Given the description of an element on the screen output the (x, y) to click on. 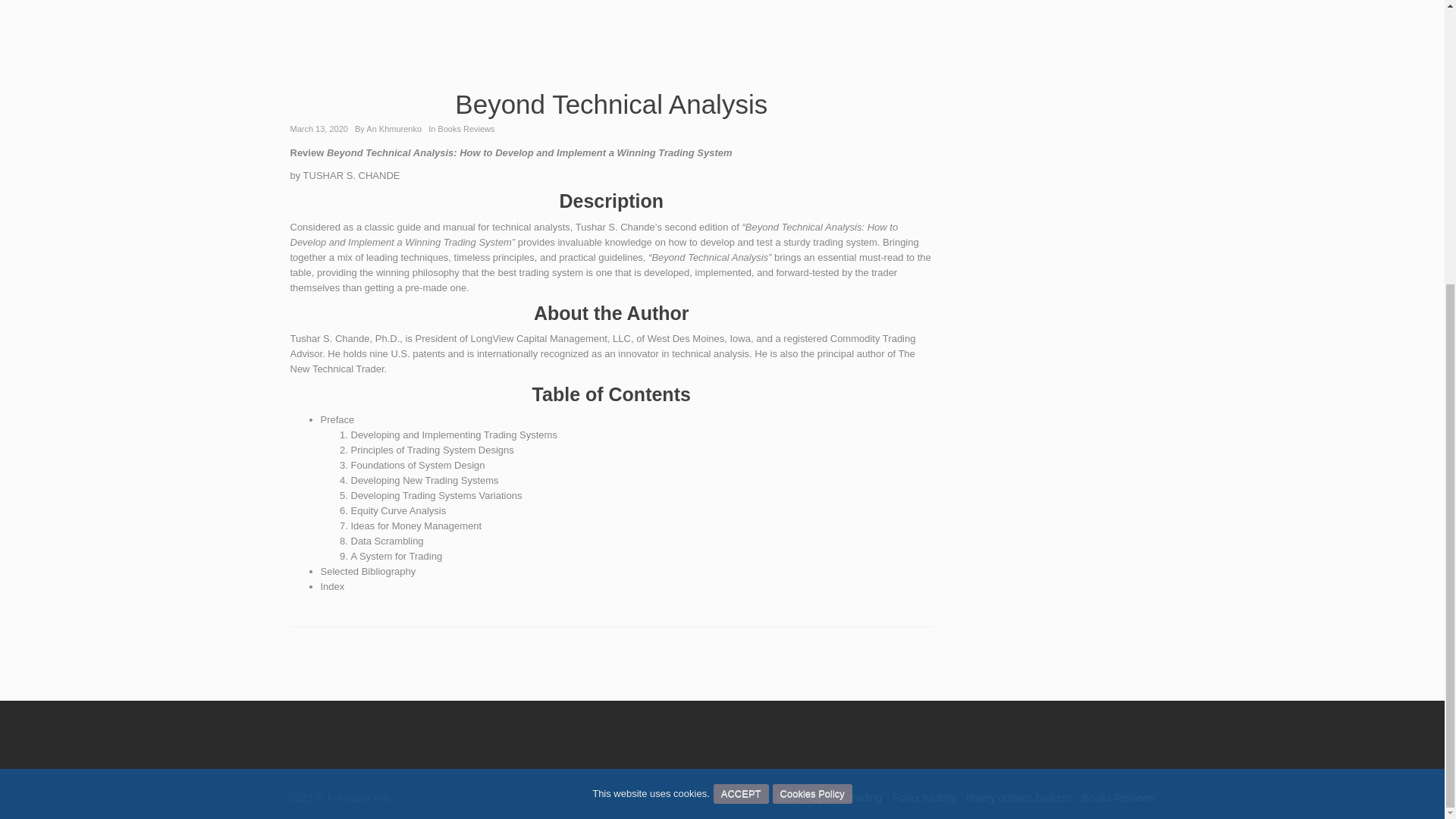
Books Reviews (1117, 797)
Main (787, 797)
Posts by An Khmurenko (394, 128)
Options trading (845, 797)
Binary options brokers (1018, 797)
An Khmurenko (394, 128)
Forex trading (923, 797)
Books Reviews (466, 128)
Content Protection by DMCA.com (311, 732)
Cookies Policy (812, 365)
